Given the description of an element on the screen output the (x, y) to click on. 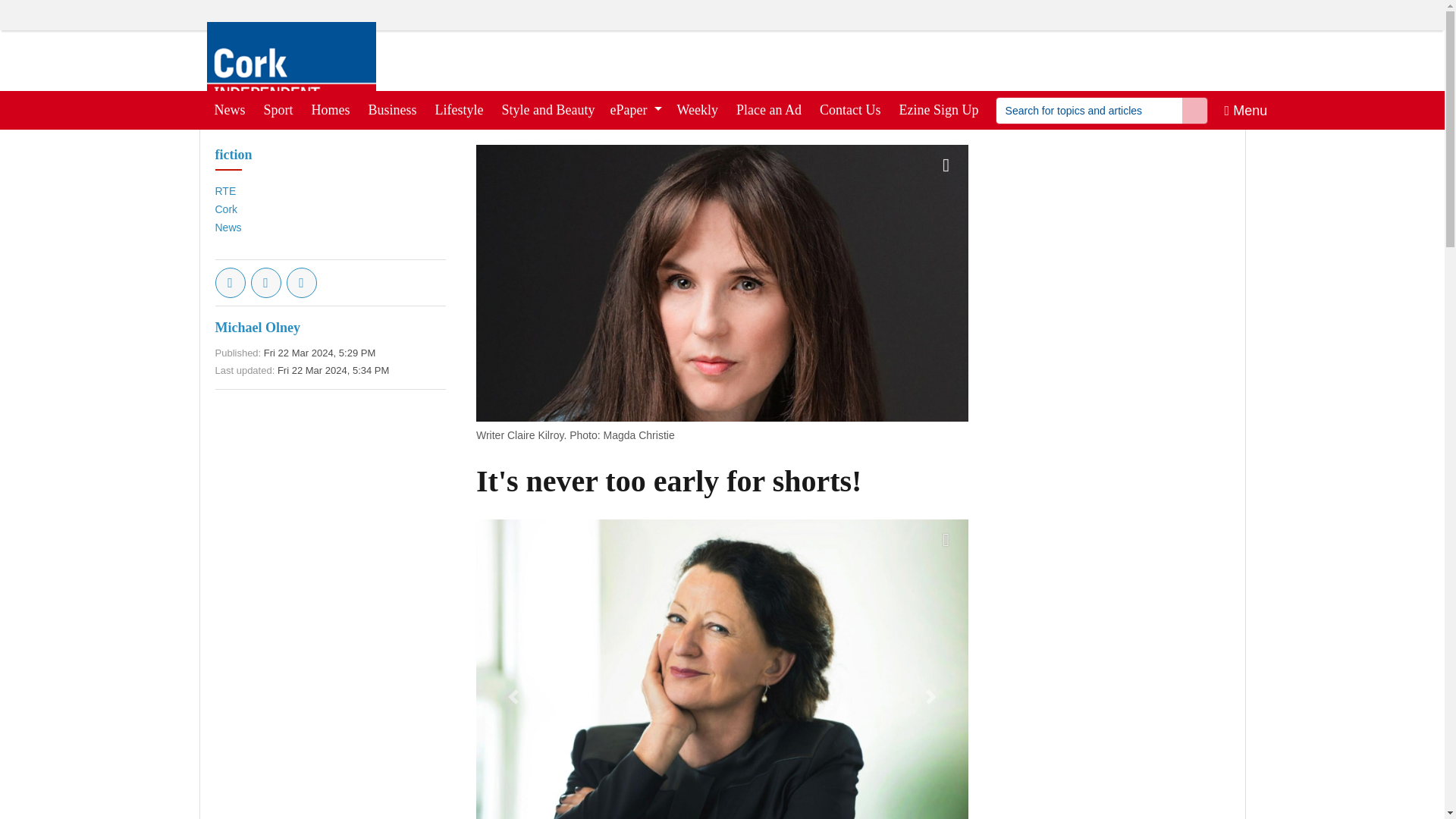
RTE (225, 191)
Menu (1245, 109)
fiction (233, 154)
ePaper (635, 109)
